Given the description of an element on the screen output the (x, y) to click on. 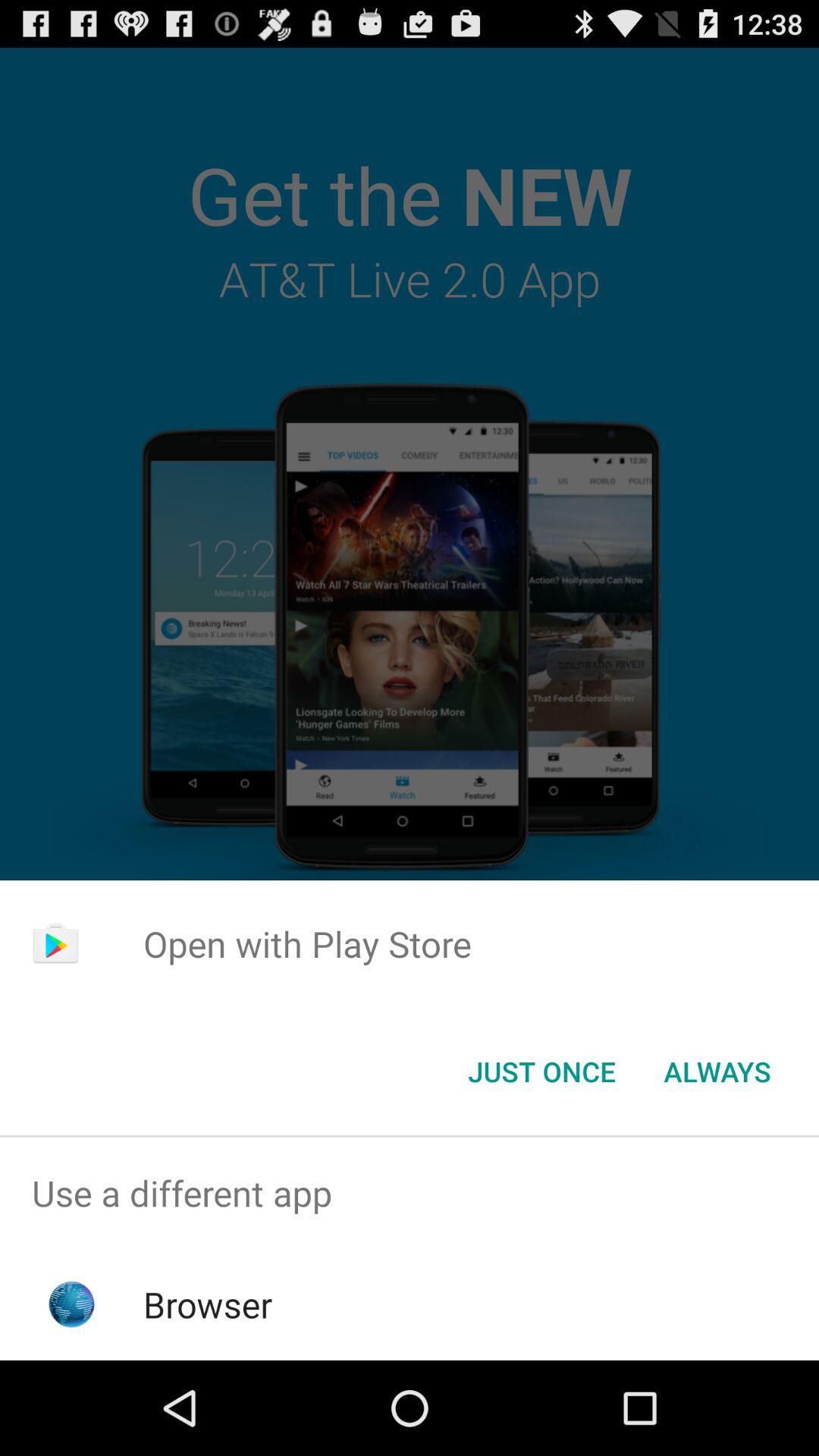
select just once icon (541, 1071)
